Given the description of an element on the screen output the (x, y) to click on. 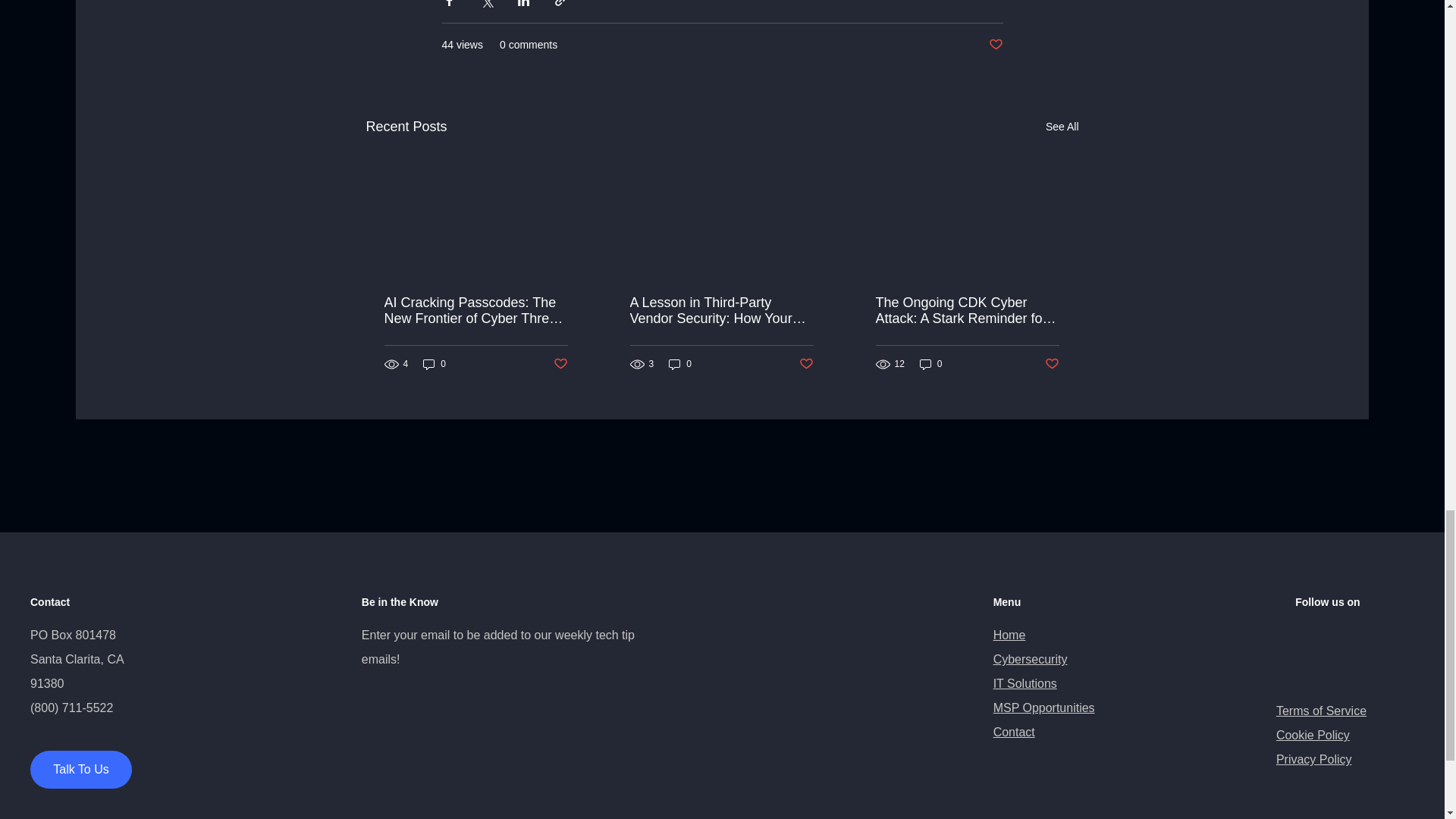
Cybersecurity (1029, 658)
MSP Opportunities (1043, 707)
See All (1061, 127)
Post not marked as liked (995, 44)
0 (930, 364)
Home (1009, 634)
IT Solutions (1024, 683)
Terms of Service (1321, 710)
Post not marked as liked (560, 364)
Contact (1013, 731)
Talk To Us (81, 769)
Post not marked as liked (806, 364)
